Given the description of an element on the screen output the (x, y) to click on. 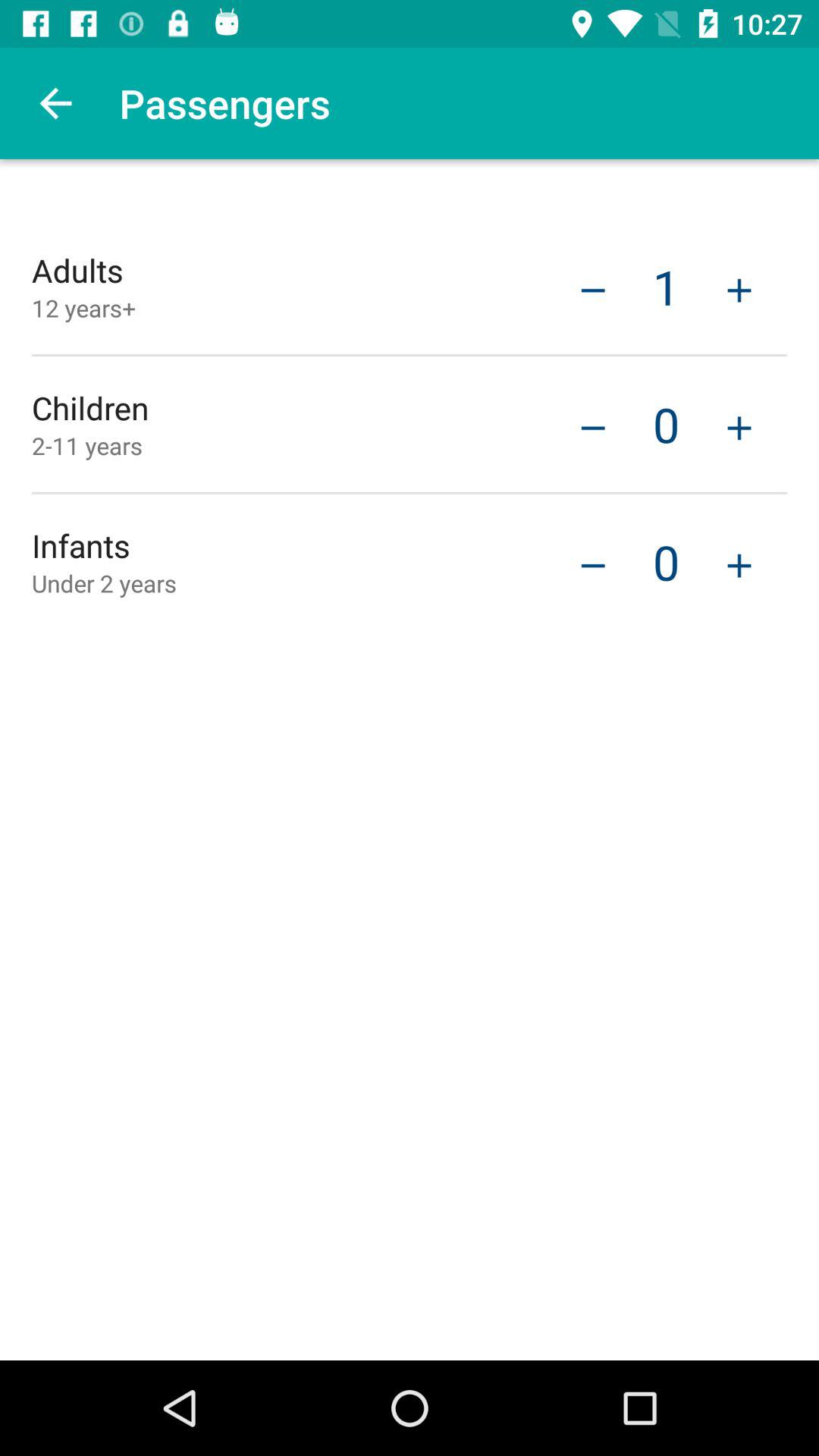
press icon above adults (55, 103)
